Given the description of an element on the screen output the (x, y) to click on. 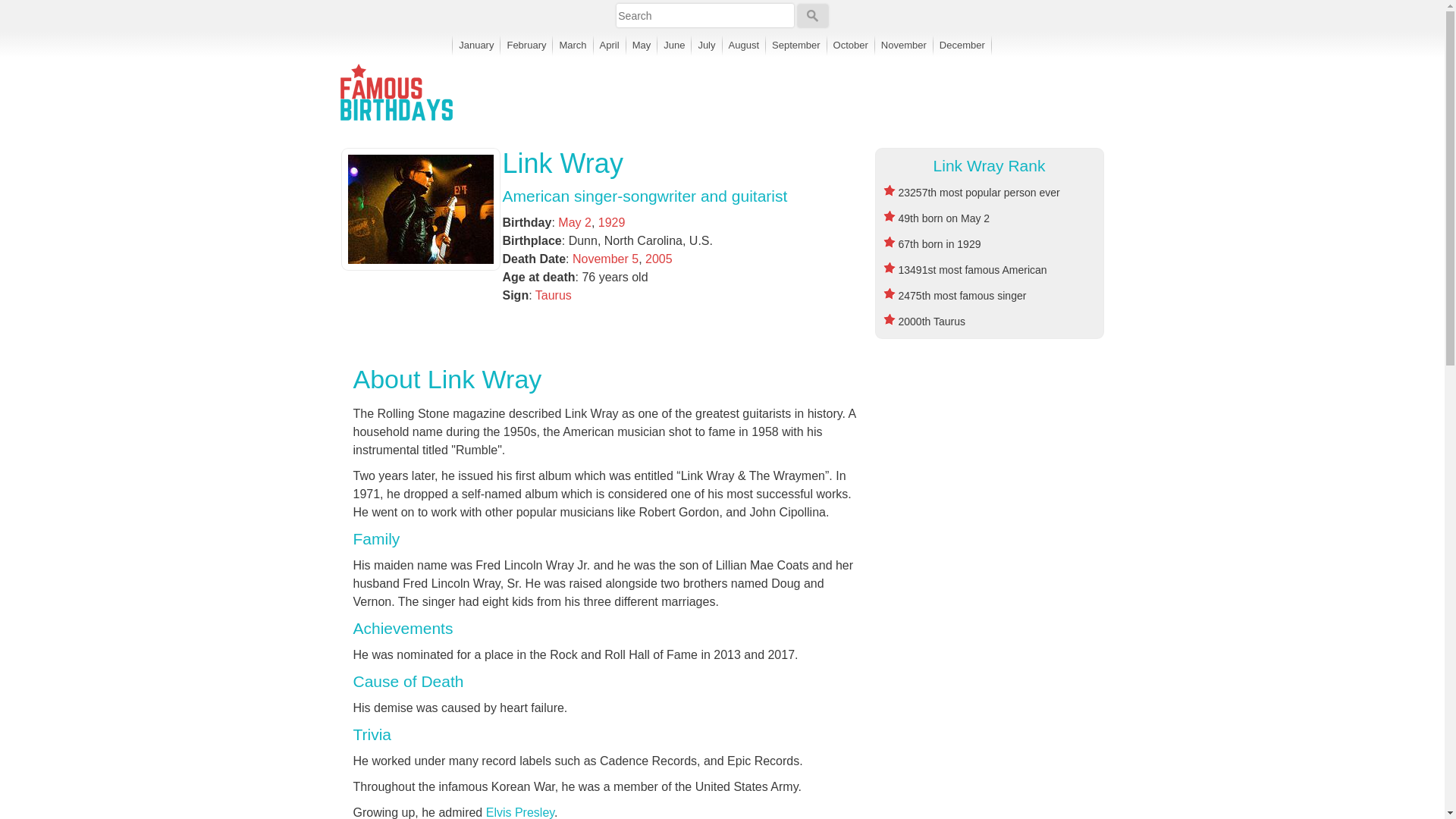
February (525, 44)
23257th most popular person ever (978, 192)
November (904, 44)
December (962, 44)
13491st most famous American (972, 269)
Taurus (553, 295)
1929 (612, 222)
September (796, 44)
January (475, 44)
August (743, 44)
2000th Taurus (930, 321)
Link Wray (562, 163)
